Given the description of an element on the screen output the (x, y) to click on. 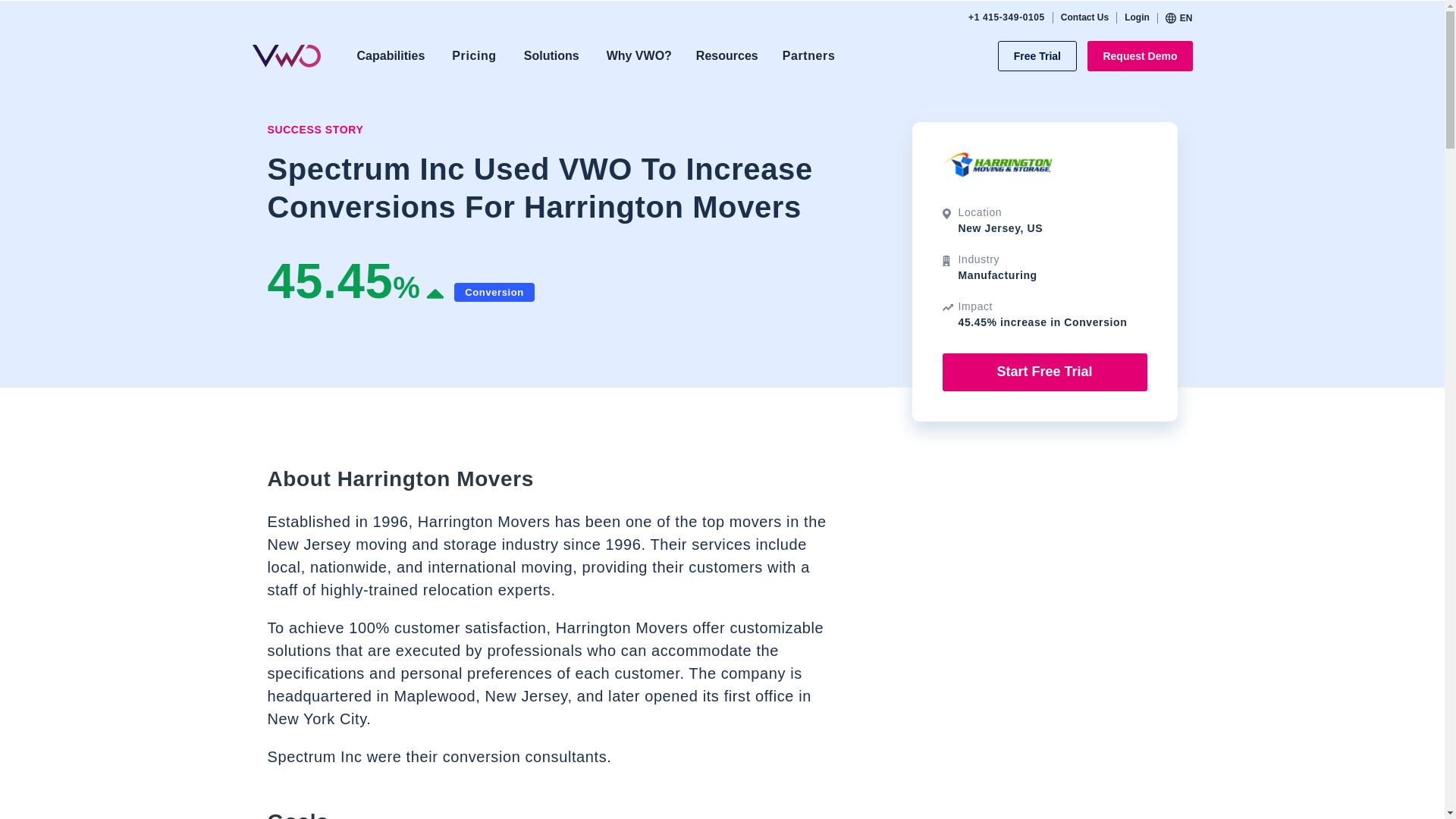
Contact Us (1084, 17)
Capabilities (390, 55)
Login (1137, 17)
EN (1179, 17)
